Given the description of an element on the screen output the (x, y) to click on. 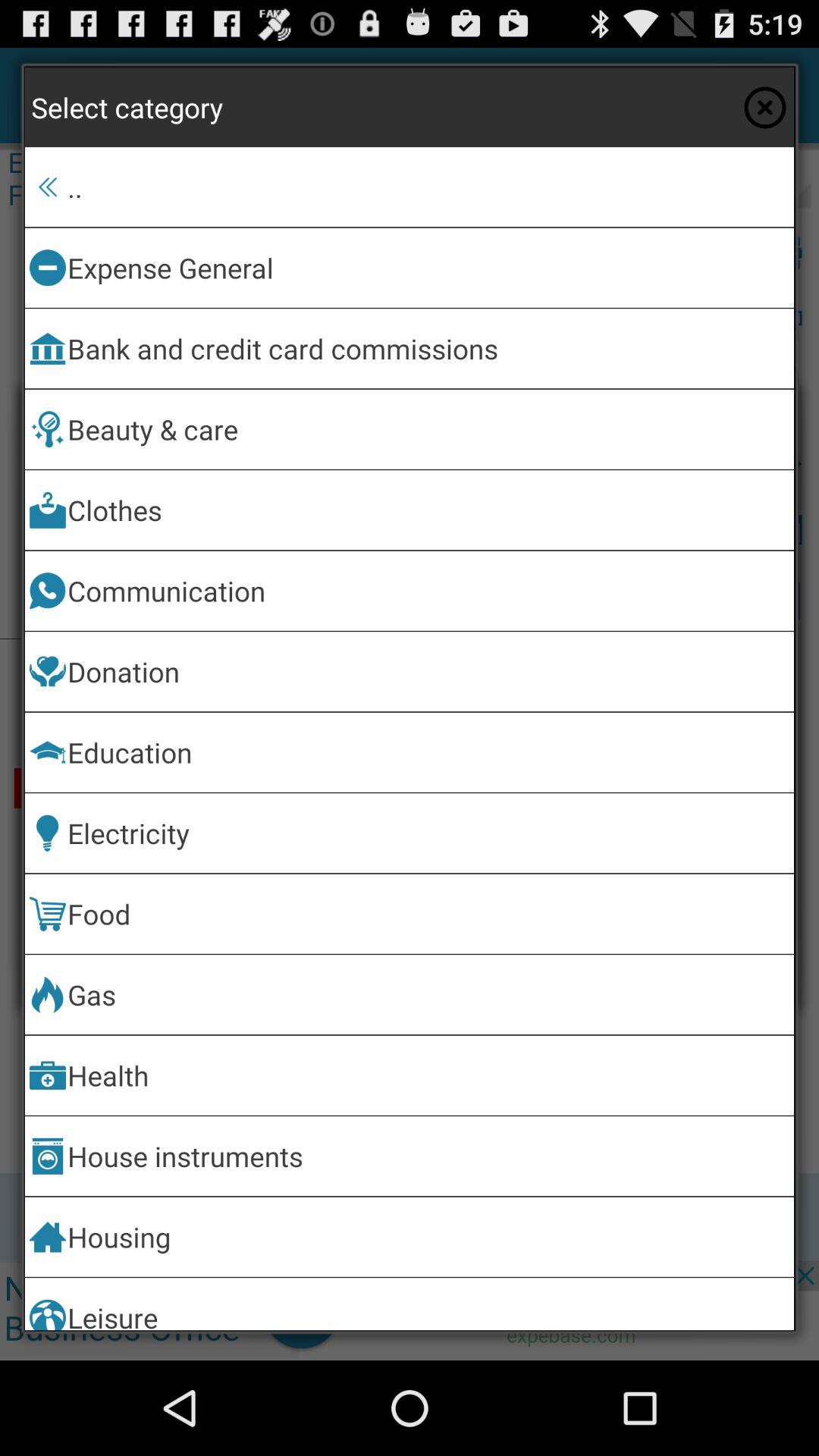
select item below clothes (427, 590)
